Given the description of an element on the screen output the (x, y) to click on. 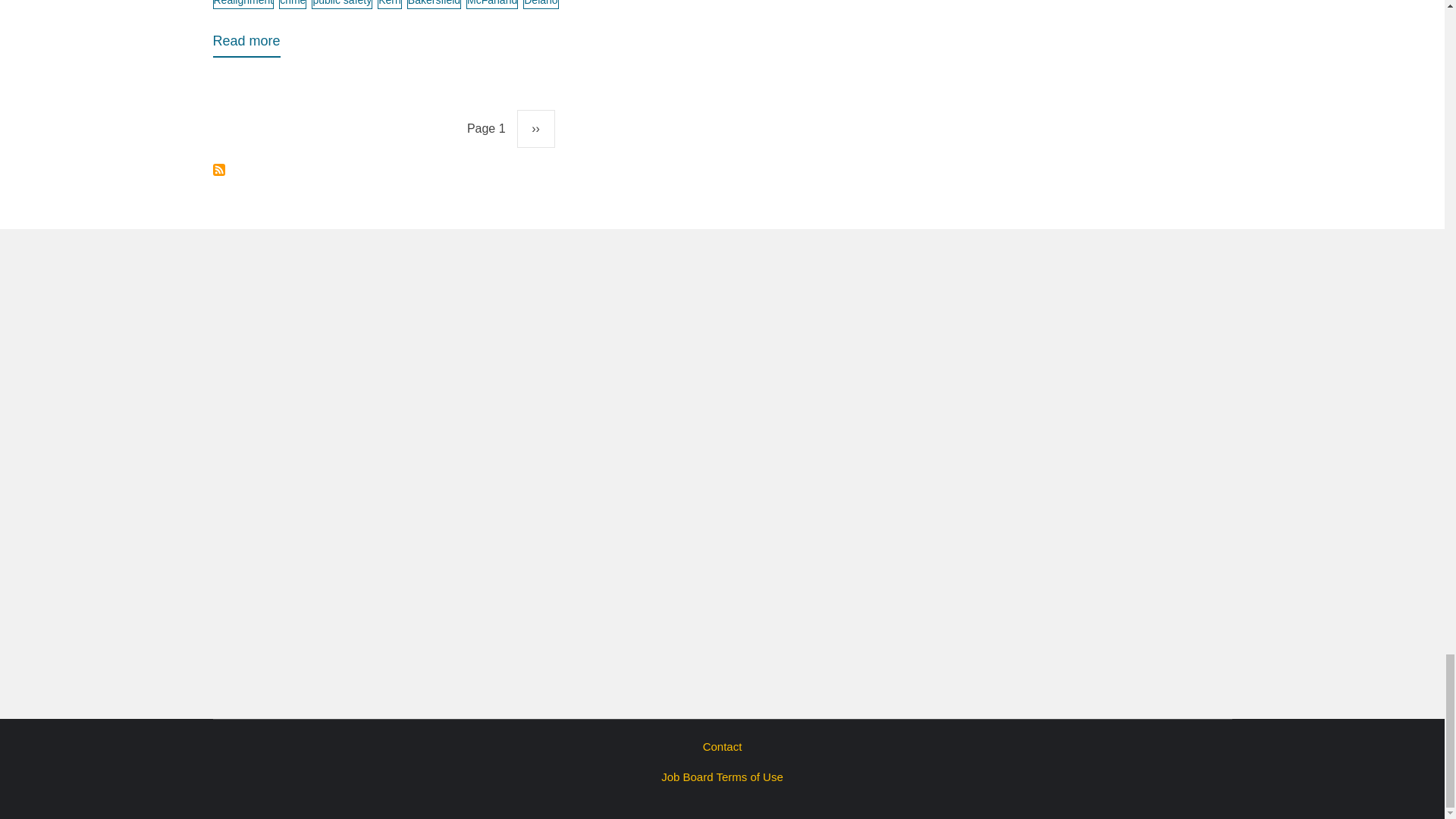
Go to next page (535, 128)
Kern Wrestles With Its Soaring Homicide Rate (245, 44)
